Given the description of an element on the screen output the (x, y) to click on. 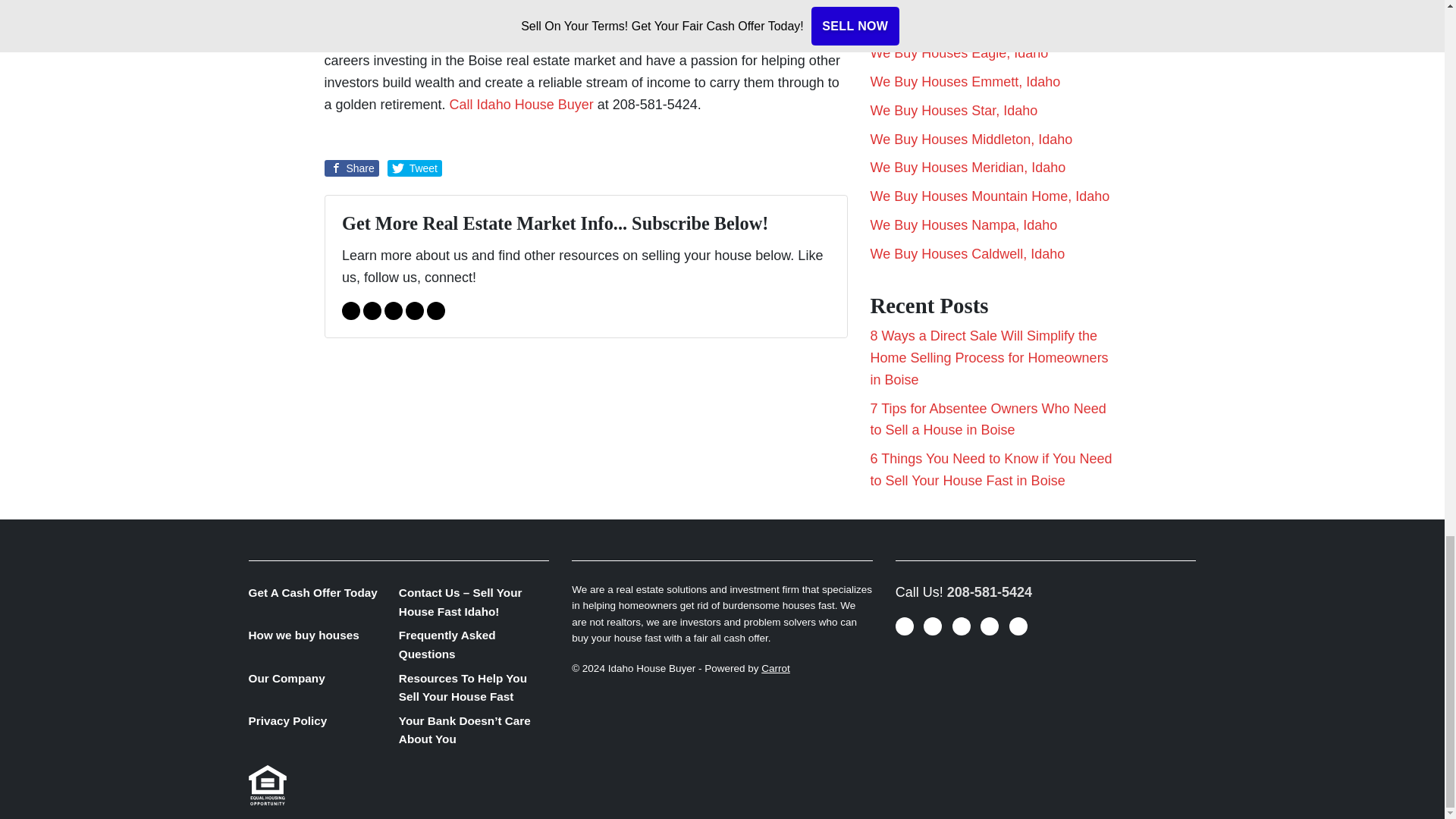
Facebook (371, 311)
Share on Facebook (351, 167)
YouTube (393, 311)
LinkedIn (414, 311)
Share (351, 167)
Tweet (414, 167)
We Buy Houses Payette, Idaho (964, 2)
Share on Twitter (414, 167)
We Buy Houses Garden City, Idaho (977, 23)
Instagram (435, 311)
Twitter (350, 311)
Call Idaho House Buyer (521, 104)
